Given the description of an element on the screen output the (x, y) to click on. 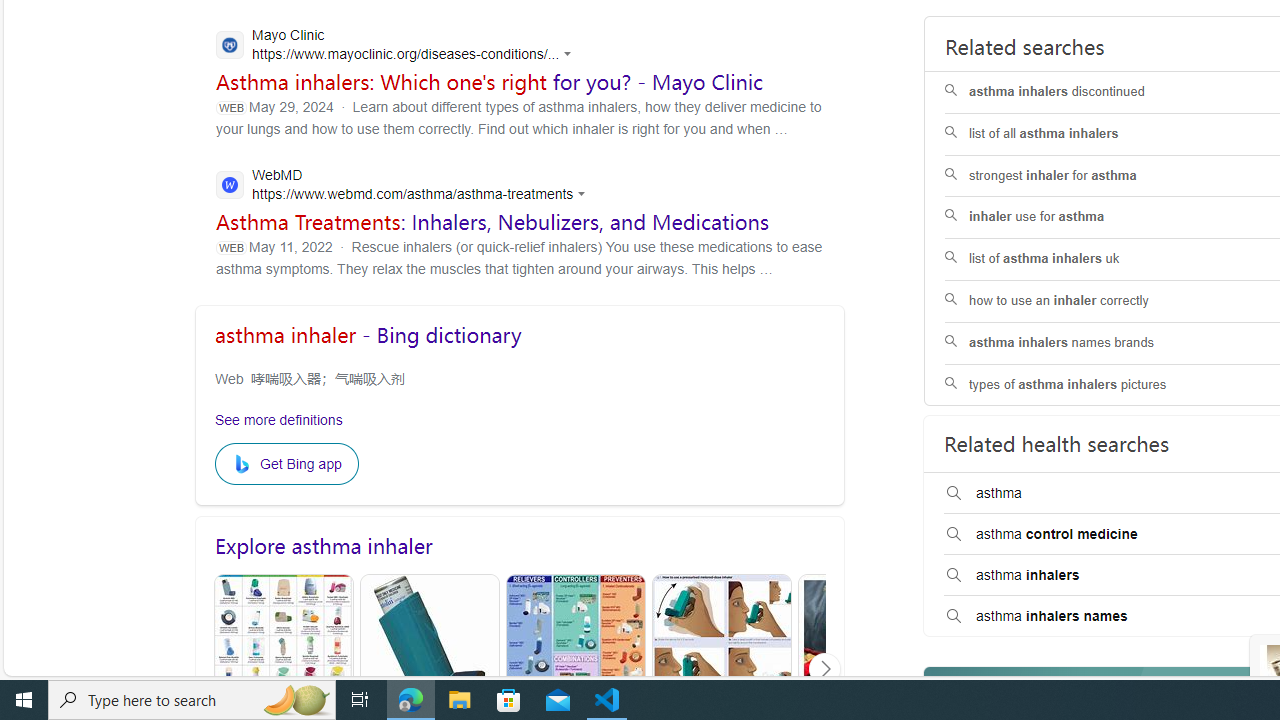
WebMD (406, 187)
See more definitions (279, 419)
Asthma inhalers: Which one's right for you? - Mayo Clinic (490, 82)
Explore asthma inhaler (520, 546)
Get Bing app (286, 463)
Click to scroll right (824, 668)
Asthma Treatments: Inhalers, Nebulizers, and Medications (493, 221)
Mayo Clinic (399, 46)
